Given the description of an element on the screen output the (x, y) to click on. 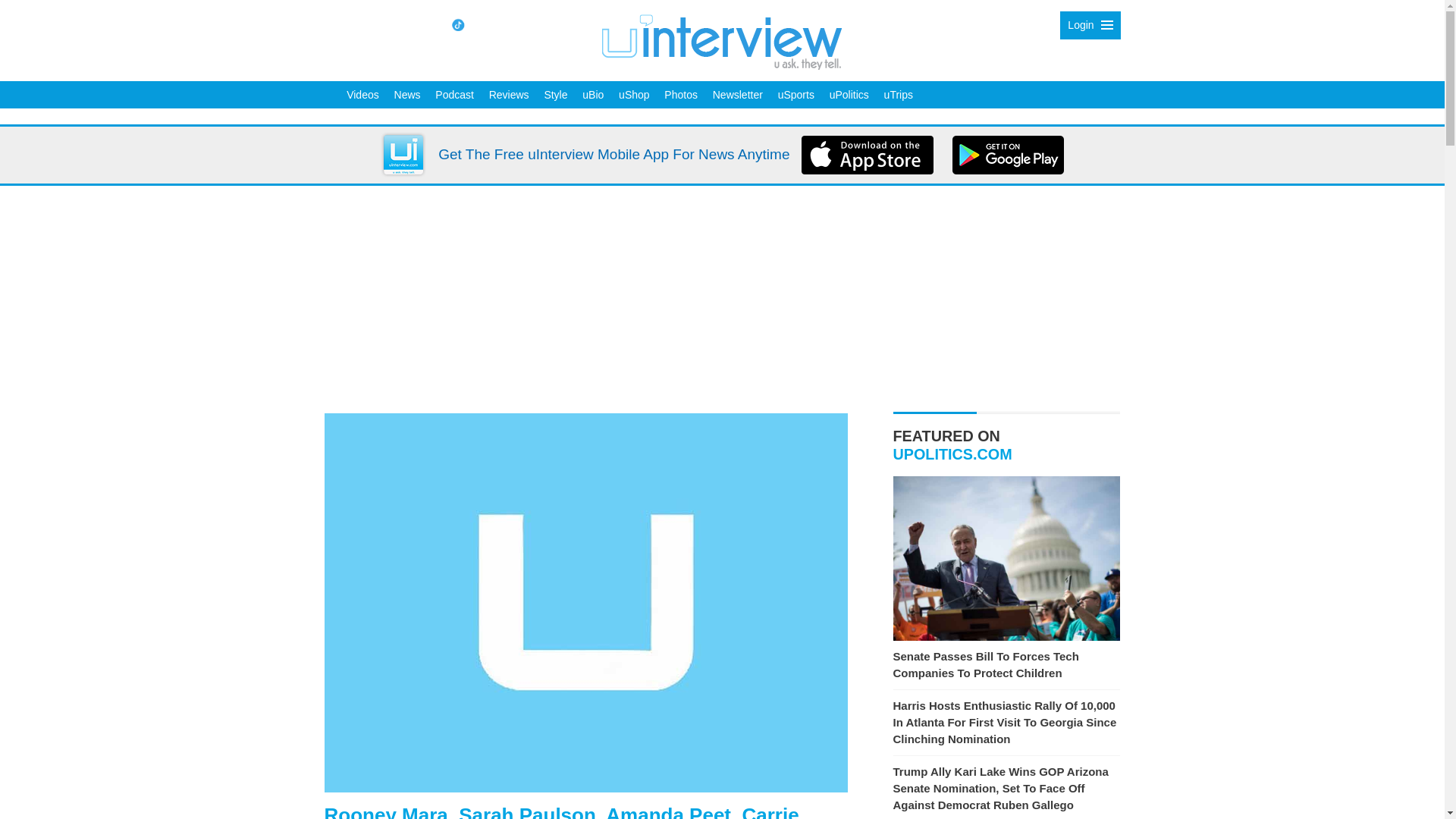
Photos (680, 94)
Login (1089, 25)
uTrips (898, 94)
uSports (796, 94)
Reviews (509, 94)
Newsletter (737, 94)
Videos (362, 94)
